Given the description of an element on the screen output the (x, y) to click on. 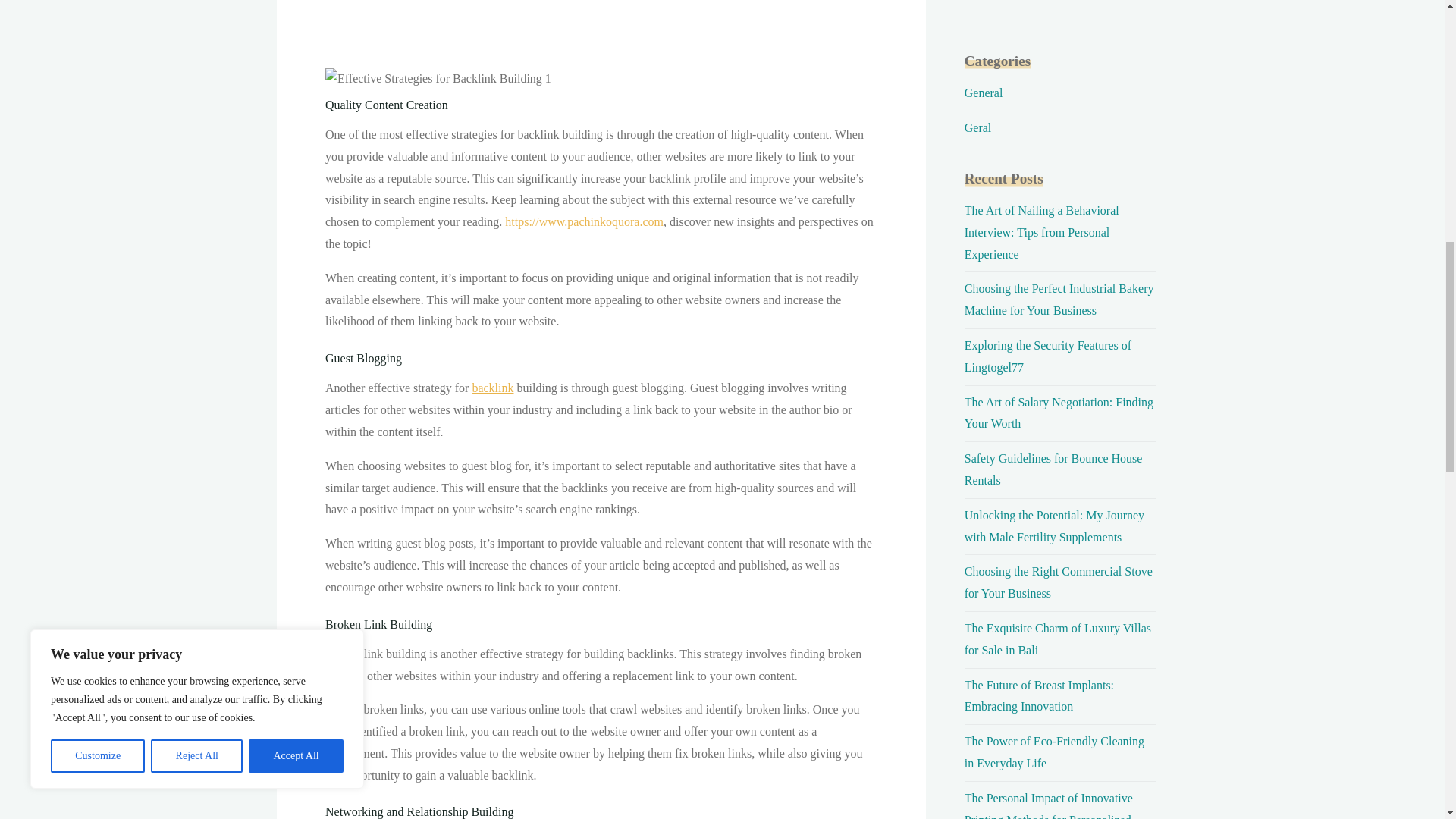
backlink (492, 387)
General (983, 92)
Geral (977, 127)
